Given the description of an element on the screen output the (x, y) to click on. 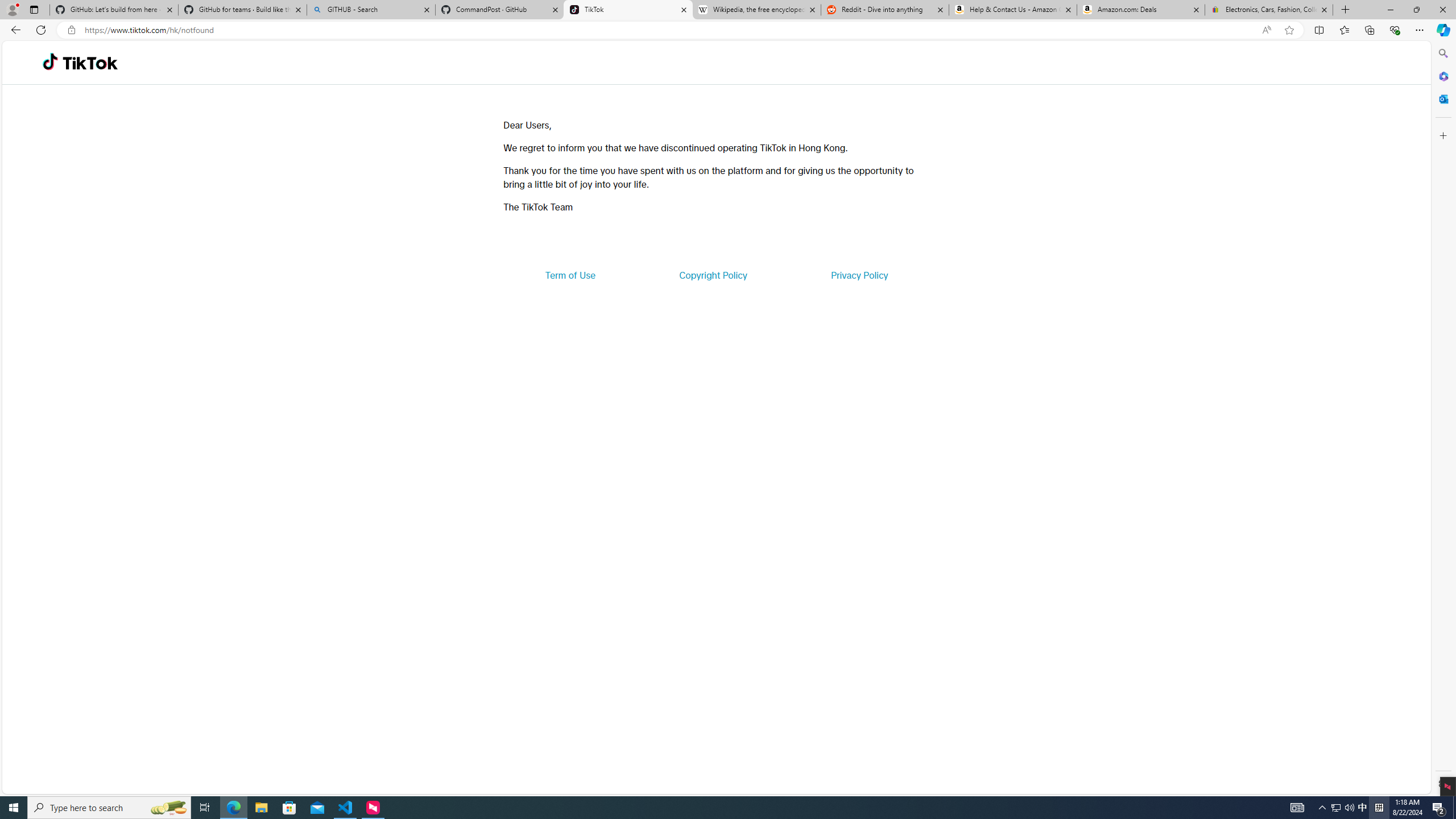
Settings and more (Alt+F) (1419, 29)
Add this page to favorites (Ctrl+D) (1289, 29)
Microsoft 365 (1442, 76)
Address and search bar (669, 29)
Close Outlook pane (1442, 98)
Term of Use (569, 274)
Settings (1442, 783)
Read aloud this page (Ctrl+Shift+U) (1266, 29)
